Given the description of an element on the screen output the (x, y) to click on. 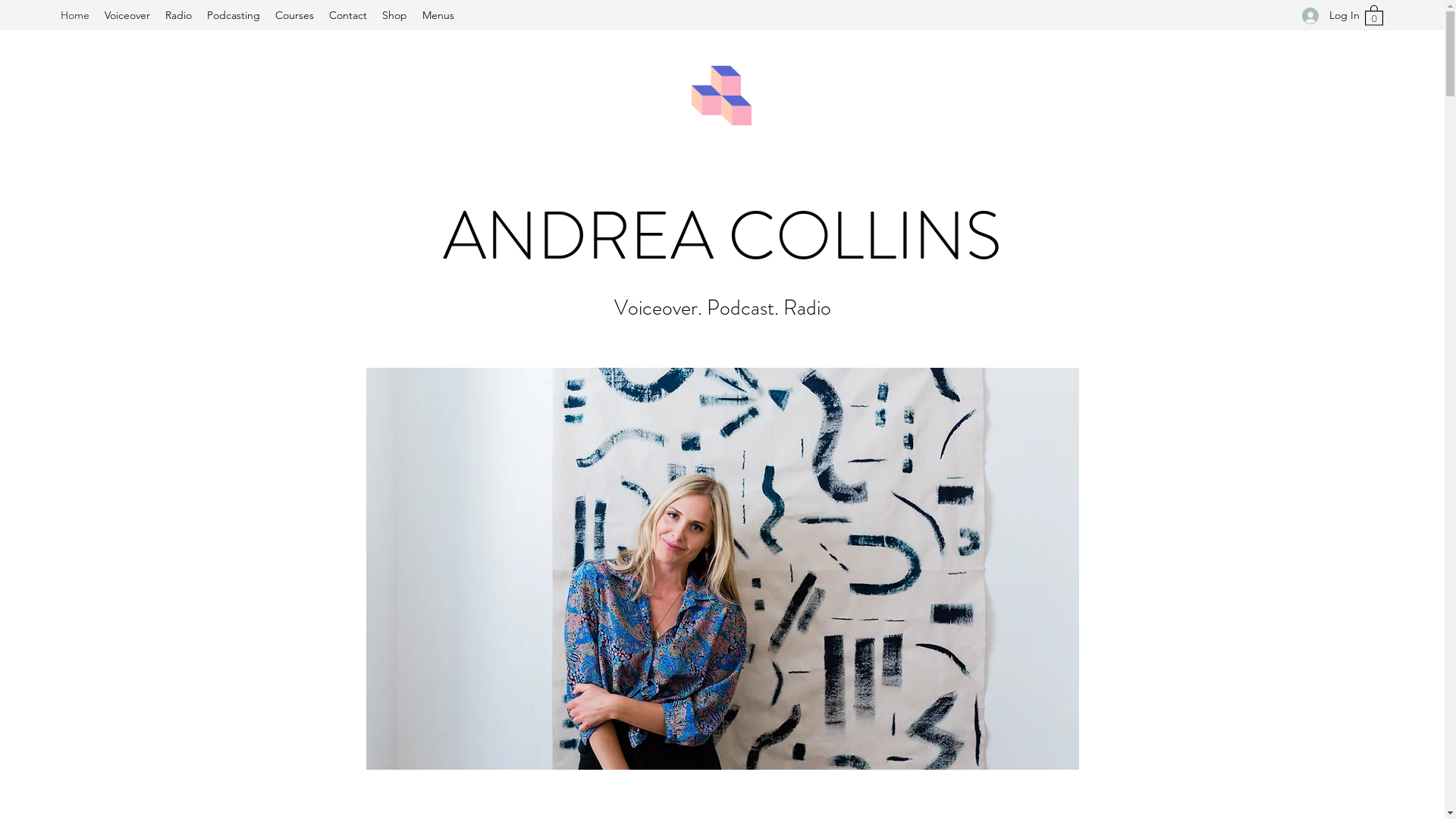
Home Element type: text (75, 14)
Menus Element type: text (437, 14)
Voiceover Element type: text (127, 14)
Contact Element type: text (347, 14)
Log In Element type: text (1325, 15)
Radio Element type: text (178, 14)
Shop Element type: text (394, 14)
0 Element type: text (1374, 14)
Podcasting Element type: text (233, 14)
Courses Element type: text (294, 14)
